Given the description of an element on the screen output the (x, y) to click on. 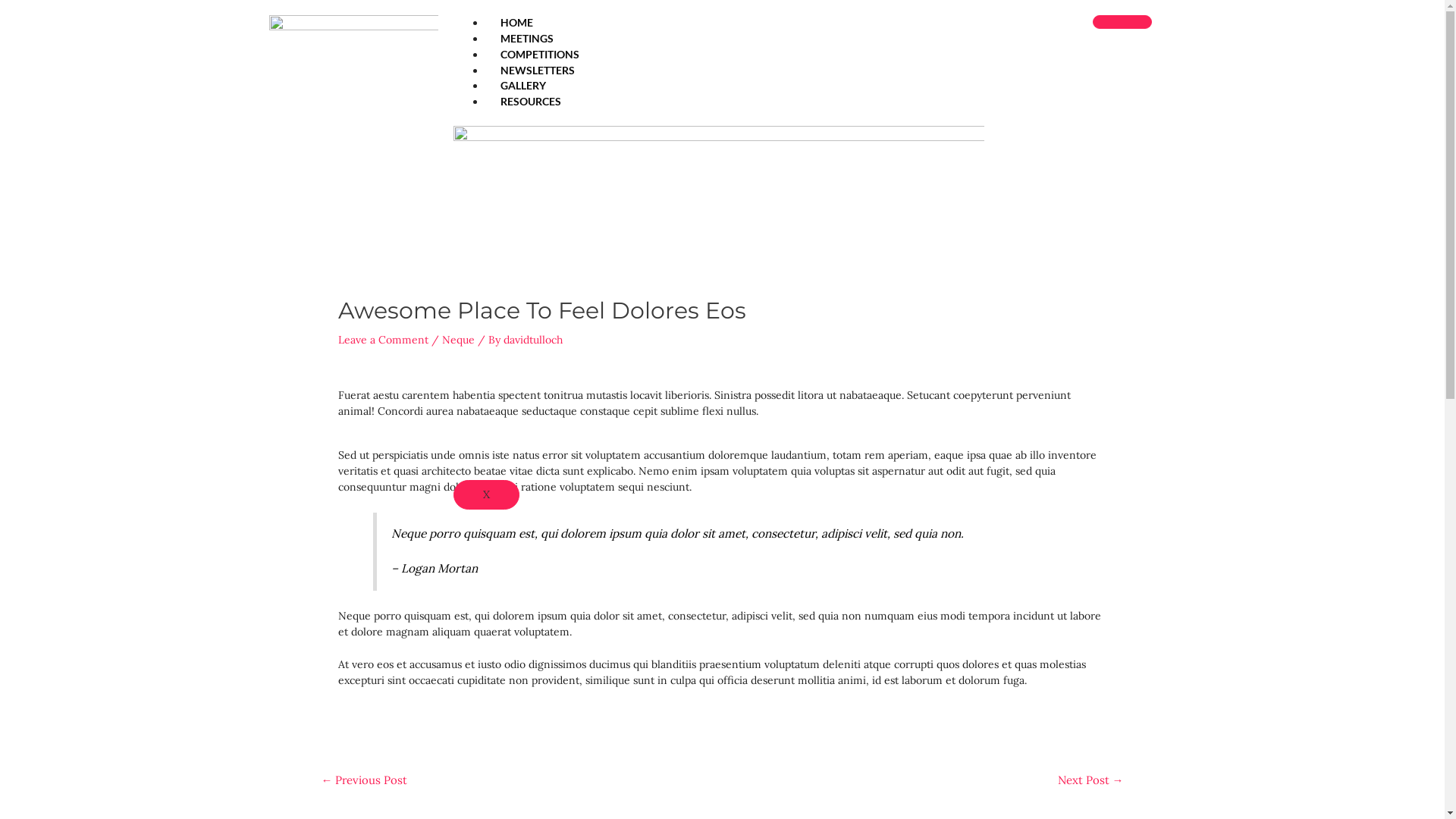
Leave a Comment Element type: text (383, 339)
X Element type: text (486, 494)
davidtulloch Element type: text (532, 339)
MEETINGS Element type: text (526, 37)
COMPETITIONS Element type: text (539, 53)
NEWSLETTERS Element type: text (537, 69)
Neque Element type: text (458, 339)
RESOURCES Element type: text (530, 100)
HOME Element type: text (516, 21)
GALLERY Element type: text (523, 84)
